Given the description of an element on the screen output the (x, y) to click on. 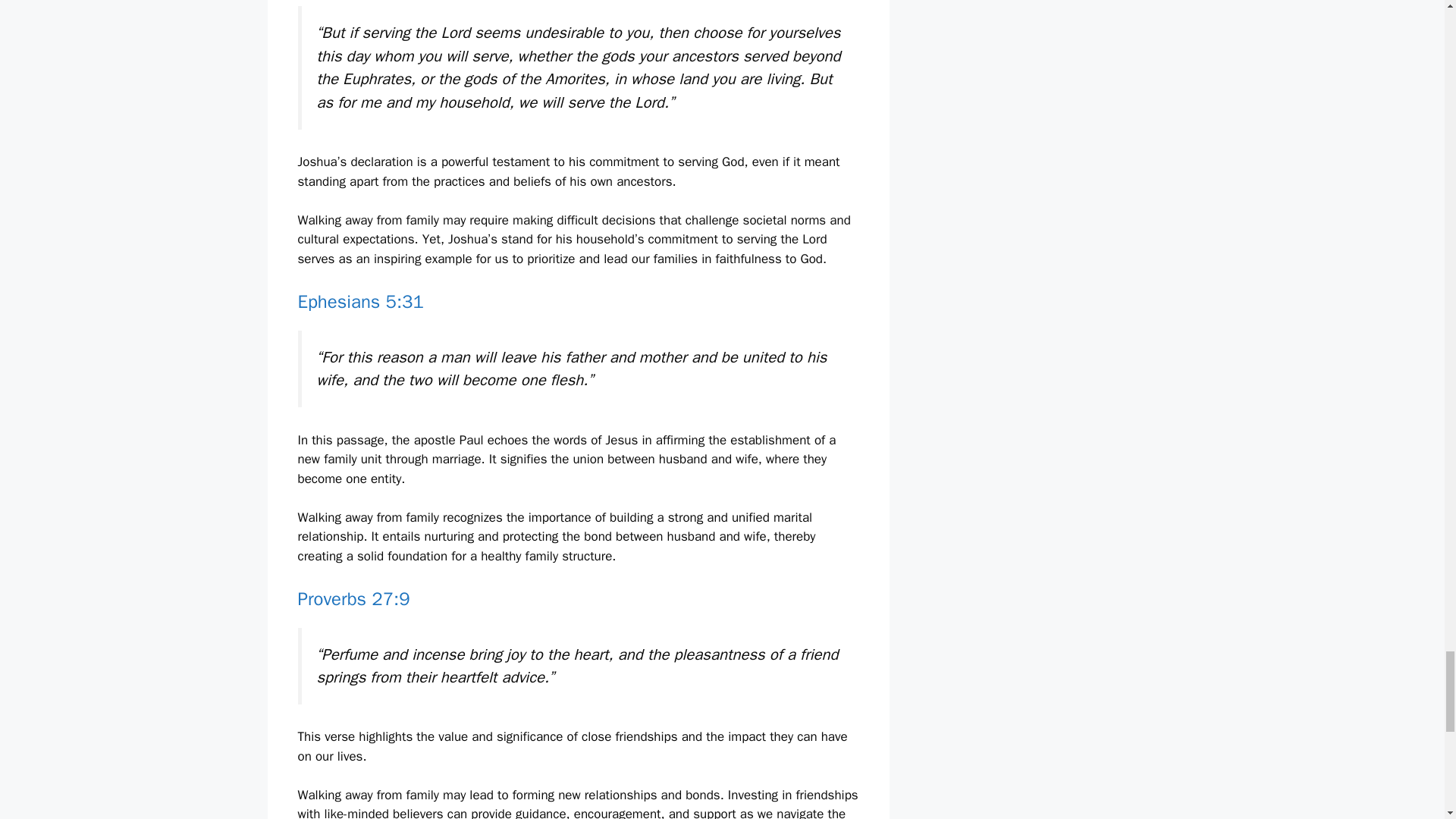
Ephesians 5:31 (360, 301)
Proverbs 27:9 (353, 599)
